Given the description of an element on the screen output the (x, y) to click on. 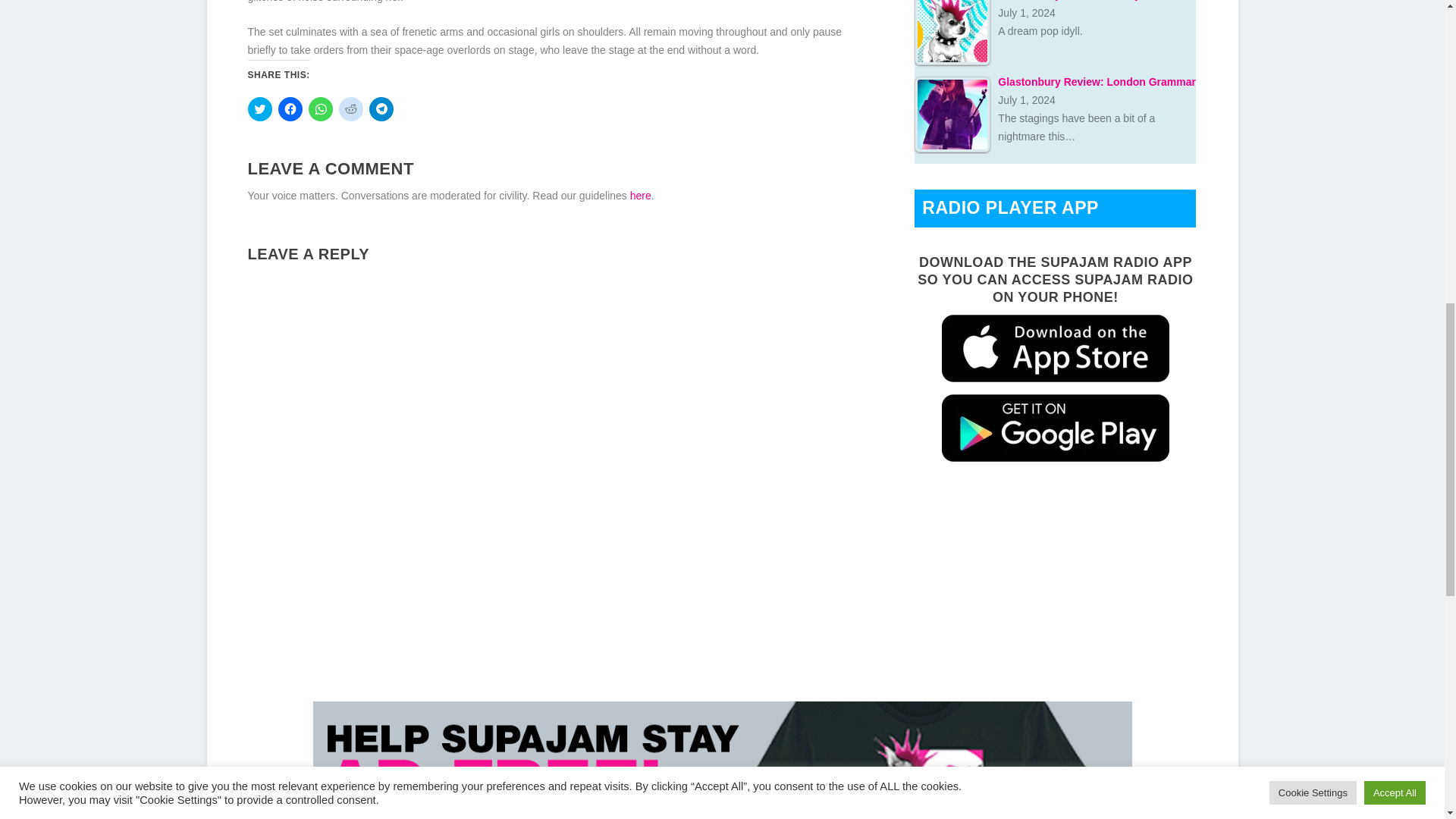
Click to share on Twitter (258, 109)
Glastonbury Review: Alvvays (952, 32)
Click to share on Telegram (380, 109)
Glastonbury Review: London Grammar (952, 114)
Click to share on WhatsApp (319, 109)
Click to share on Facebook (289, 109)
Click to share on Reddit (349, 109)
